Given the description of an element on the screen output the (x, y) to click on. 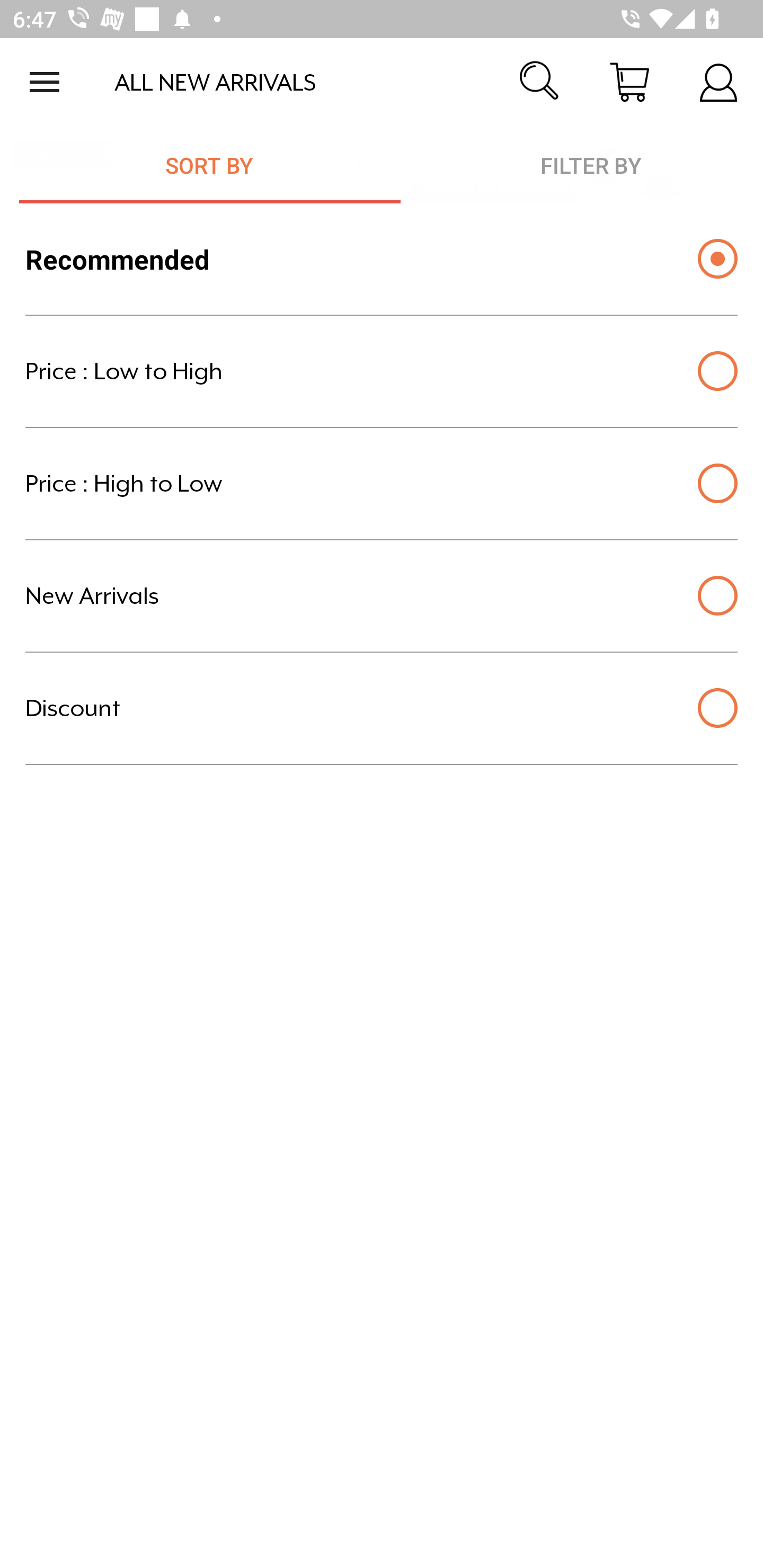
Open navigation drawer (44, 82)
Search (540, 81)
Cart (629, 81)
Account Details (718, 81)
Recommended (381, 259)
Price : Low to High (381, 370)
Price : High to Low (381, 483)
New Arrivals (381, 596)
Discount (381, 707)
